Given the description of an element on the screen output the (x, y) to click on. 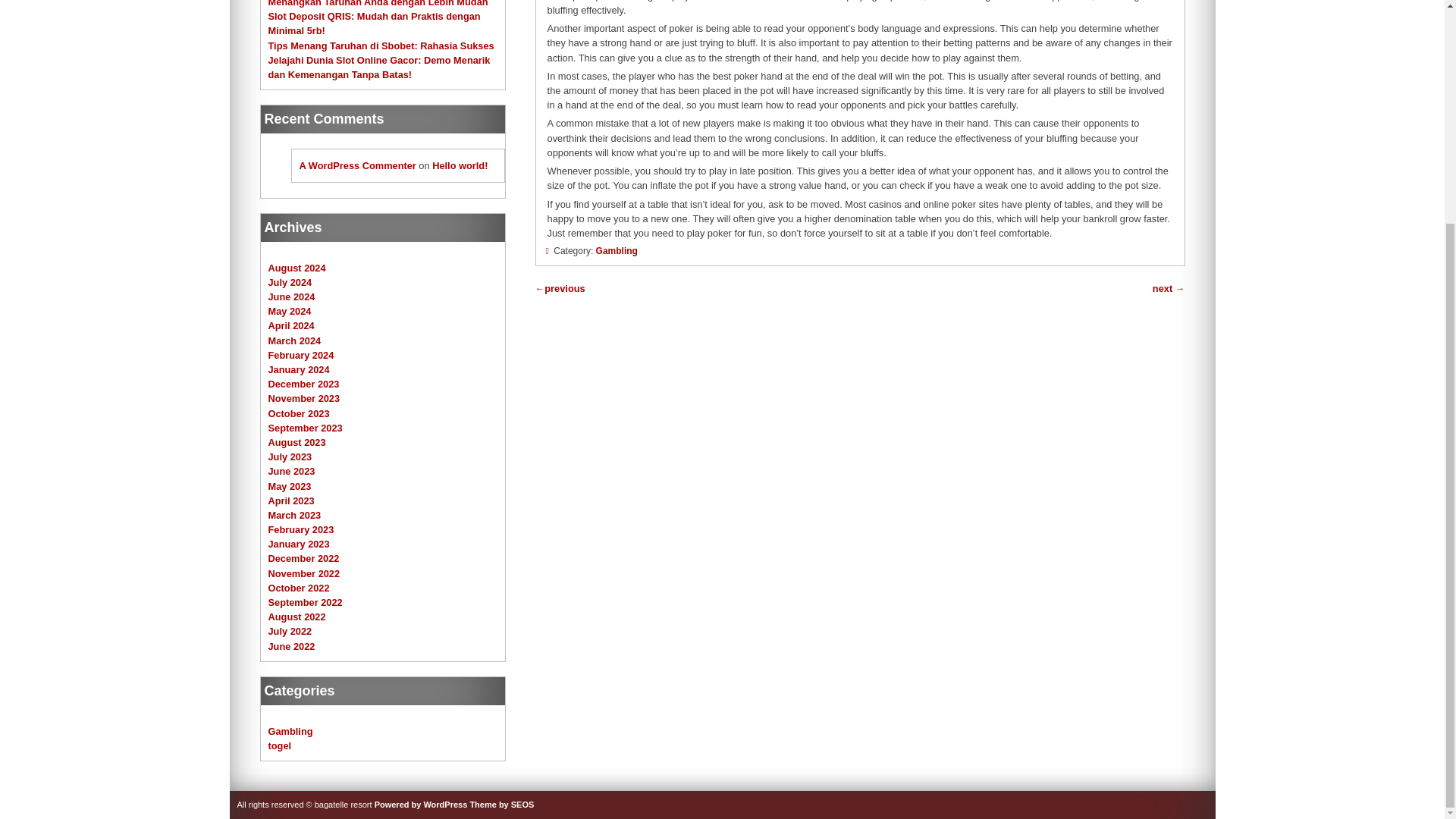
Slot Deposit QRIS: Mudah dan Praktis dengan Minimal 5rb! (373, 23)
October 2023 (298, 413)
Hello world! (459, 165)
December 2022 (303, 558)
A WordPress Commenter (356, 165)
March 2024 (294, 340)
July 2023 (290, 456)
September 2023 (304, 428)
February 2023 (300, 529)
